Given the description of an element on the screen output the (x, y) to click on. 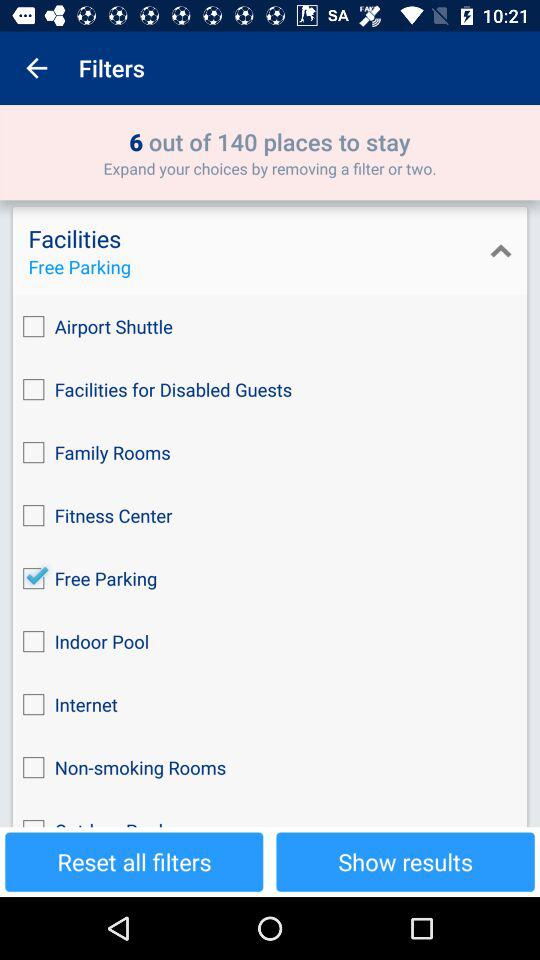
swipe to the outdoor pool icon (269, 813)
